Given the description of an element on the screen output the (x, y) to click on. 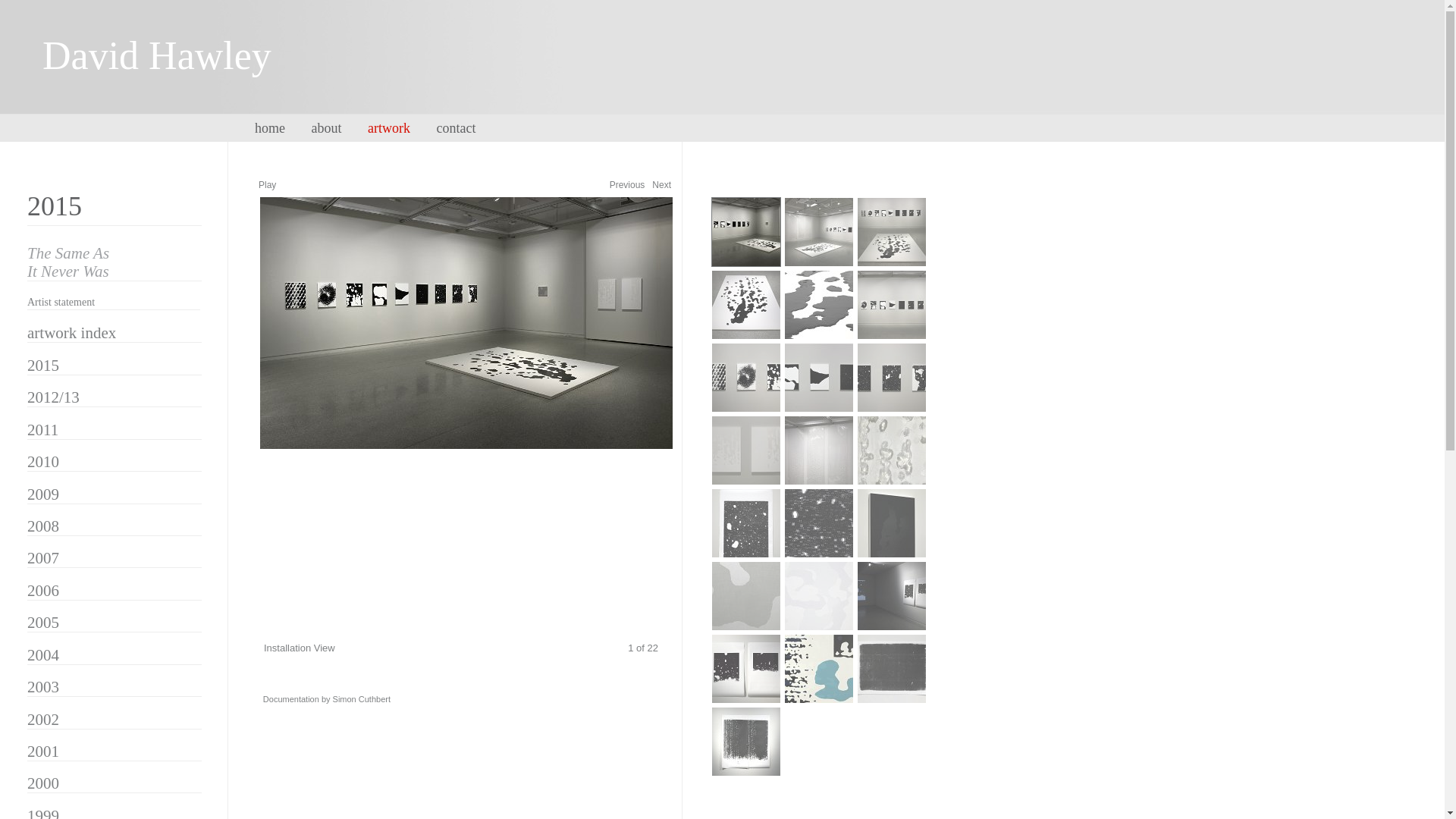
16 Element type: hover (746, 595)
07 Element type: hover (746, 377)
contact Element type: text (467, 127)
  Element type: text (464, 404)
2004 Element type: text (43, 655)
08 (2) Element type: hover (818, 377)
12 Element type: hover (891, 450)
01 Element type: hover (464, 404)
2001 Element type: text (43, 751)
2005 Element type: text (43, 622)
artwork Element type: text (400, 127)
20 Element type: hover (818, 668)
01 Element type: hover (746, 231)
2010 Element type: text (43, 461)
13 Element type: hover (746, 523)
15 Element type: hover (891, 523)
2008 Element type: text (43, 526)
home Element type: text (280, 127)
10 Element type: hover (746, 450)
Play Element type: text (266, 184)
2003 Element type: text (43, 686)
11 Element type: hover (818, 450)
21 Element type: hover (891, 668)
18 Element type: hover (891, 595)
17 Element type: hover (818, 595)
2006 Element type: text (43, 590)
04 (2) Element type: hover (746, 304)
19 Element type: hover (746, 668)
06 Element type: hover (891, 304)
05 Element type: hover (818, 304)
22a Element type: hover (746, 741)
2000 Element type: text (43, 783)
2012/13 Element type: text (53, 397)
Previous Element type: text (627, 184)
2011 Element type: text (42, 429)
2007 Element type: text (43, 558)
02 (2) Element type: hover (818, 231)
David Hawley Element type: text (179, 71)
artwork index Element type: text (71, 332)
14 Element type: hover (818, 523)
2002 Element type: text (43, 718)
03 (2) Element type: hover (891, 231)
Artist statement Element type: text (60, 301)
Next Element type: text (661, 184)
2009 Element type: text (43, 494)
about Element type: text (337, 127)
09 (2) Element type: hover (891, 377)
2015 Element type: text (43, 365)
